Given the description of an element on the screen output the (x, y) to click on. 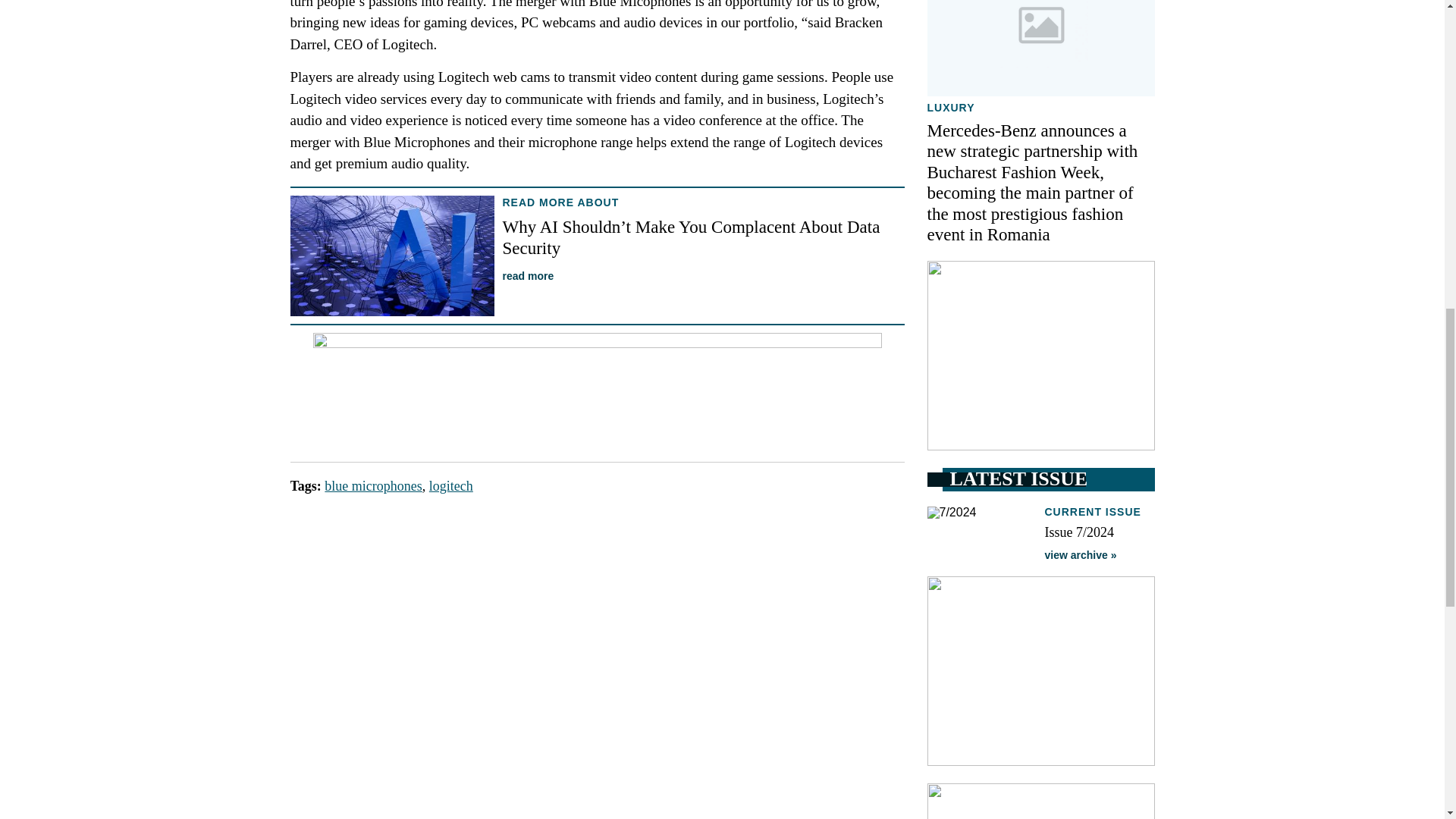
read more (527, 275)
logitech (451, 485)
LUXURY (950, 107)
blue microphones (373, 485)
